Given the description of an element on the screen output the (x, y) to click on. 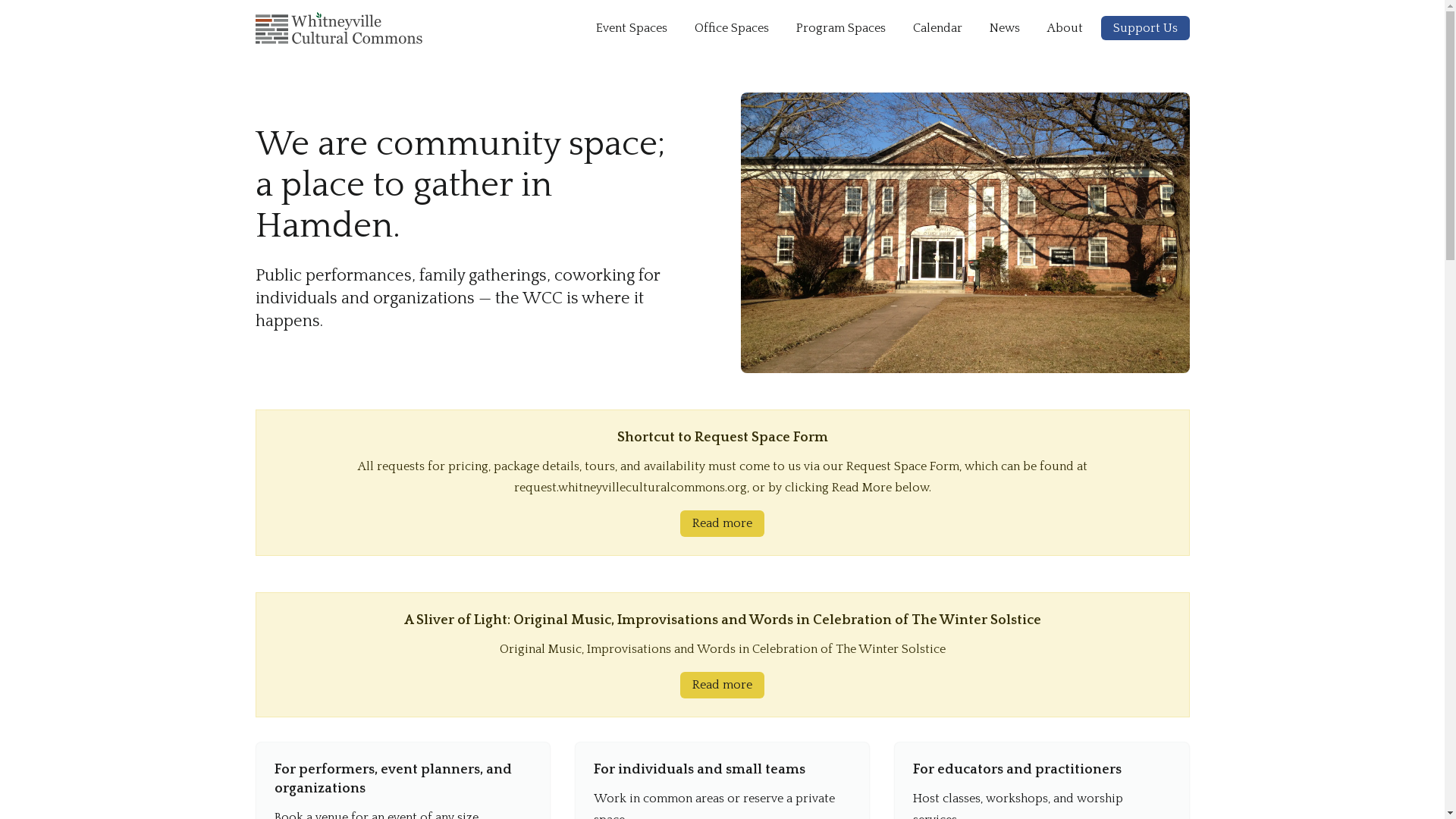
Event Spaces Element type: text (631, 27)
Program Spaces Element type: text (840, 27)
Support Us Element type: text (1145, 27)
Read more Element type: text (722, 523)
News Element type: text (1003, 27)
Calendar Element type: text (937, 27)
Read more Element type: text (722, 684)
About Element type: text (1064, 27)
Office Spaces Element type: text (731, 27)
